Given the description of an element on the screen output the (x, y) to click on. 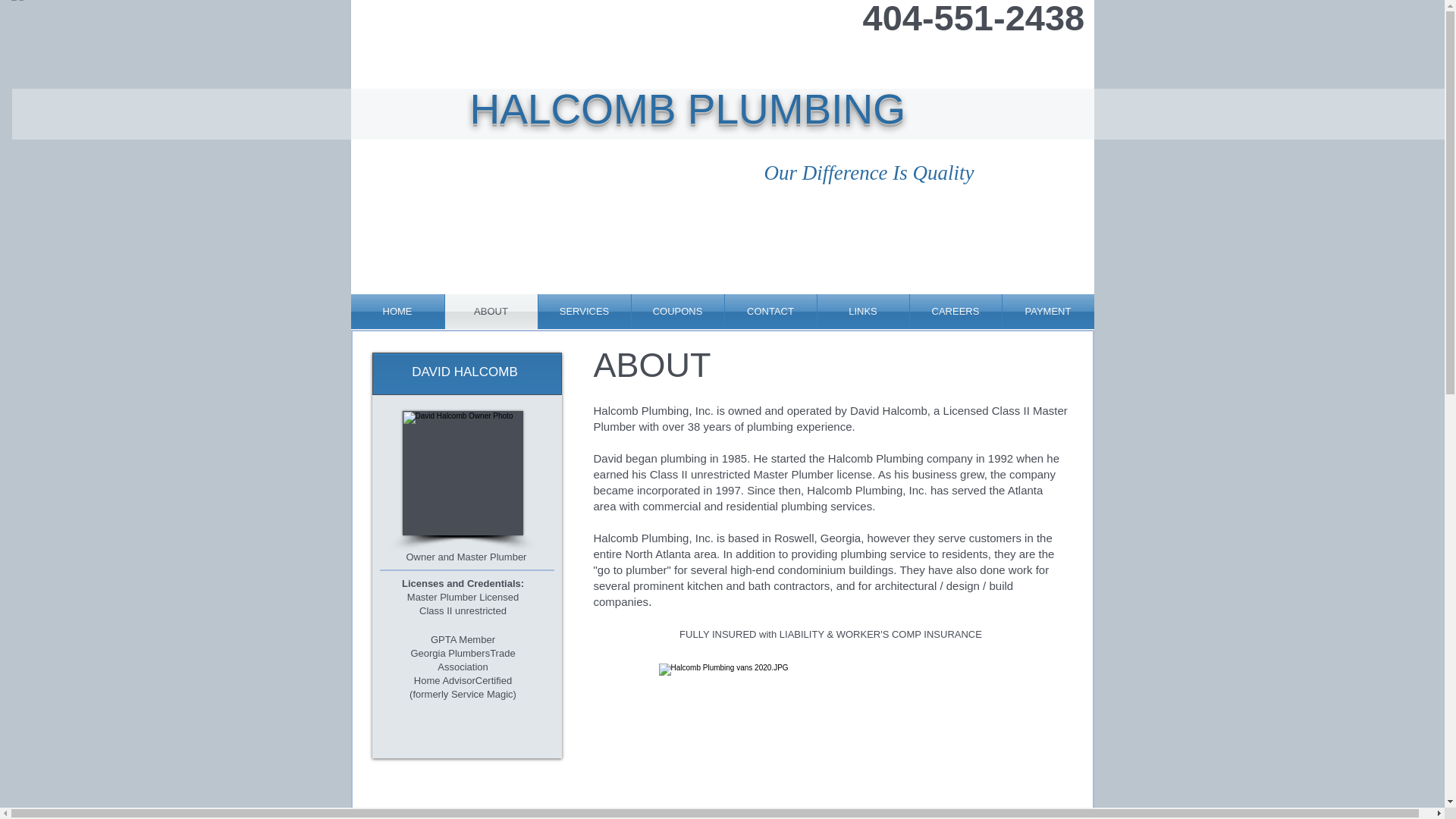
PAYMENT (1048, 311)
CONTACT (770, 311)
SERVICES (584, 311)
David Halcomb Plumber (461, 473)
ABOUT (490, 311)
LINKS (862, 311)
CAREERS (955, 311)
COUPONS (676, 311)
HOME (397, 311)
